Given the description of an element on the screen output the (x, y) to click on. 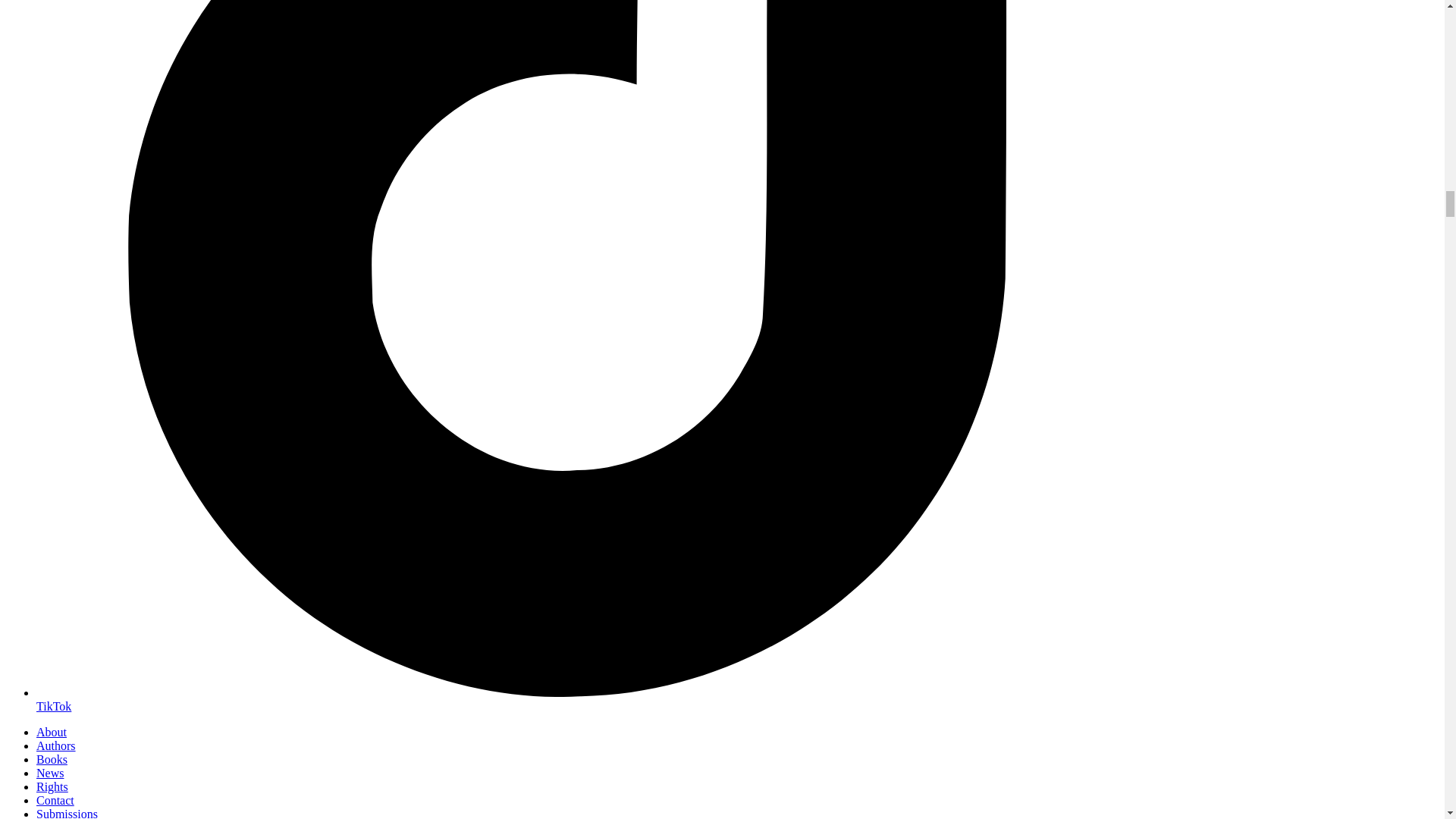
Books (51, 758)
News (50, 772)
Authors (55, 745)
Contact (55, 799)
About (51, 731)
Submissions (66, 813)
Rights (52, 786)
